Given the description of an element on the screen output the (x, y) to click on. 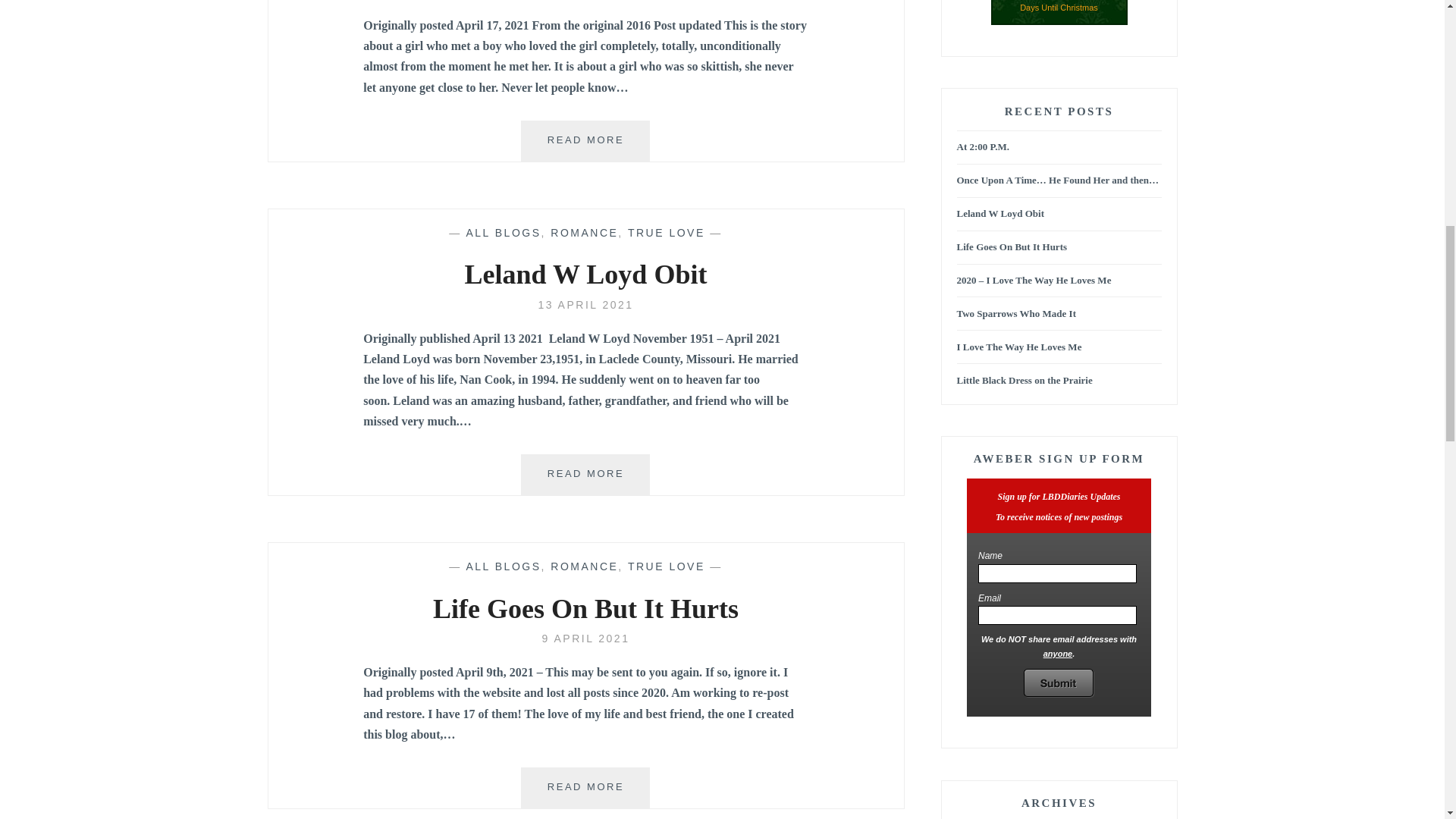
9 APRIL 2021 (585, 638)
Life Goes On But It Hurts (585, 638)
13 APRIL 2021 (585, 304)
ALL BLOGS (502, 566)
ROMANCE (585, 787)
TRUE LOVE (583, 232)
Leland W Loyd Obit (665, 232)
ROMANCE (585, 304)
TRUE LOVE (583, 566)
Leland W Loyd Obit (665, 566)
ALL BLOGS (585, 474)
Life Goes On But It Hurts (585, 275)
